Given the description of an element on the screen output the (x, y) to click on. 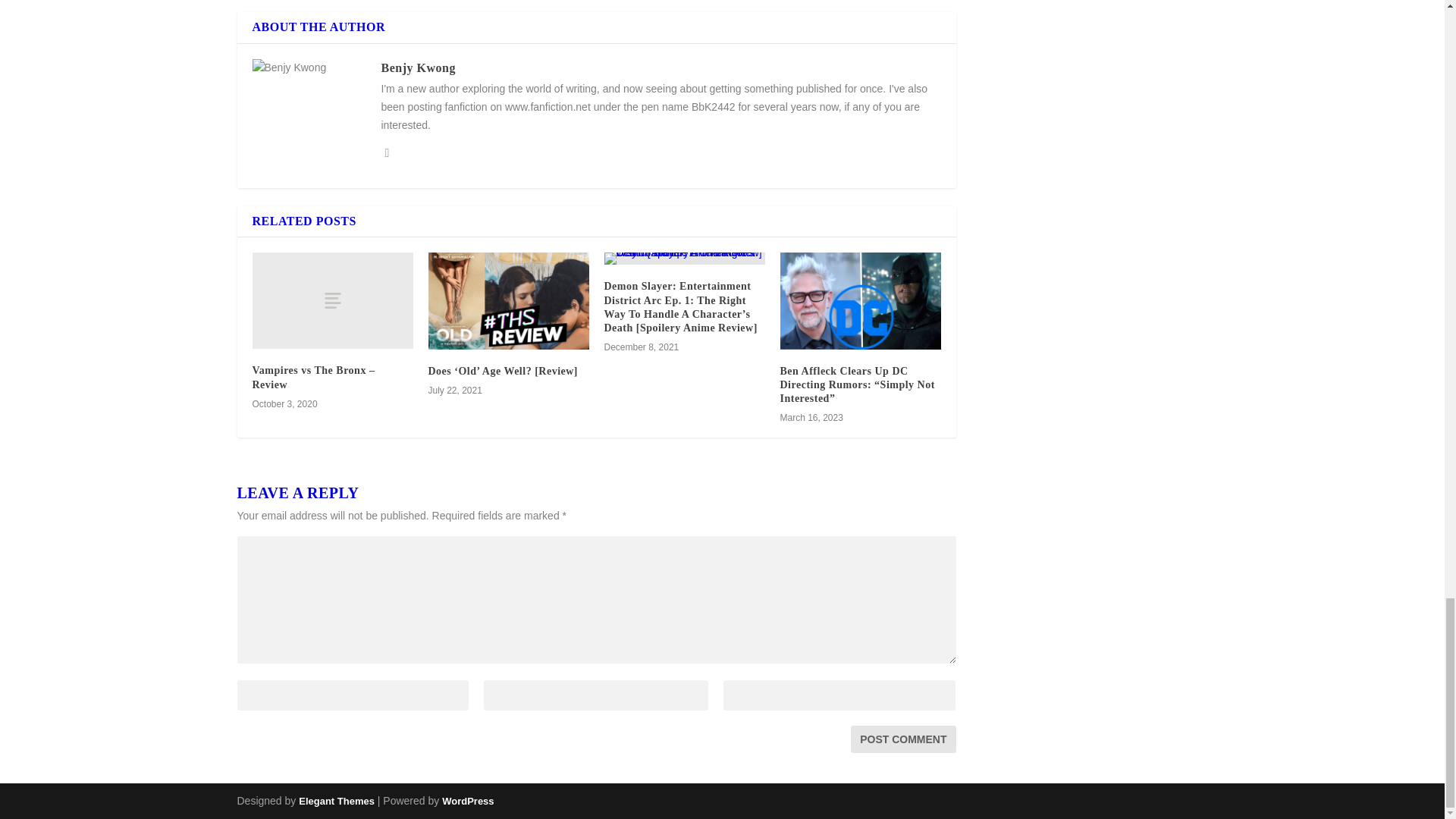
Post Comment (902, 738)
